Given the description of an element on the screen output the (x, y) to click on. 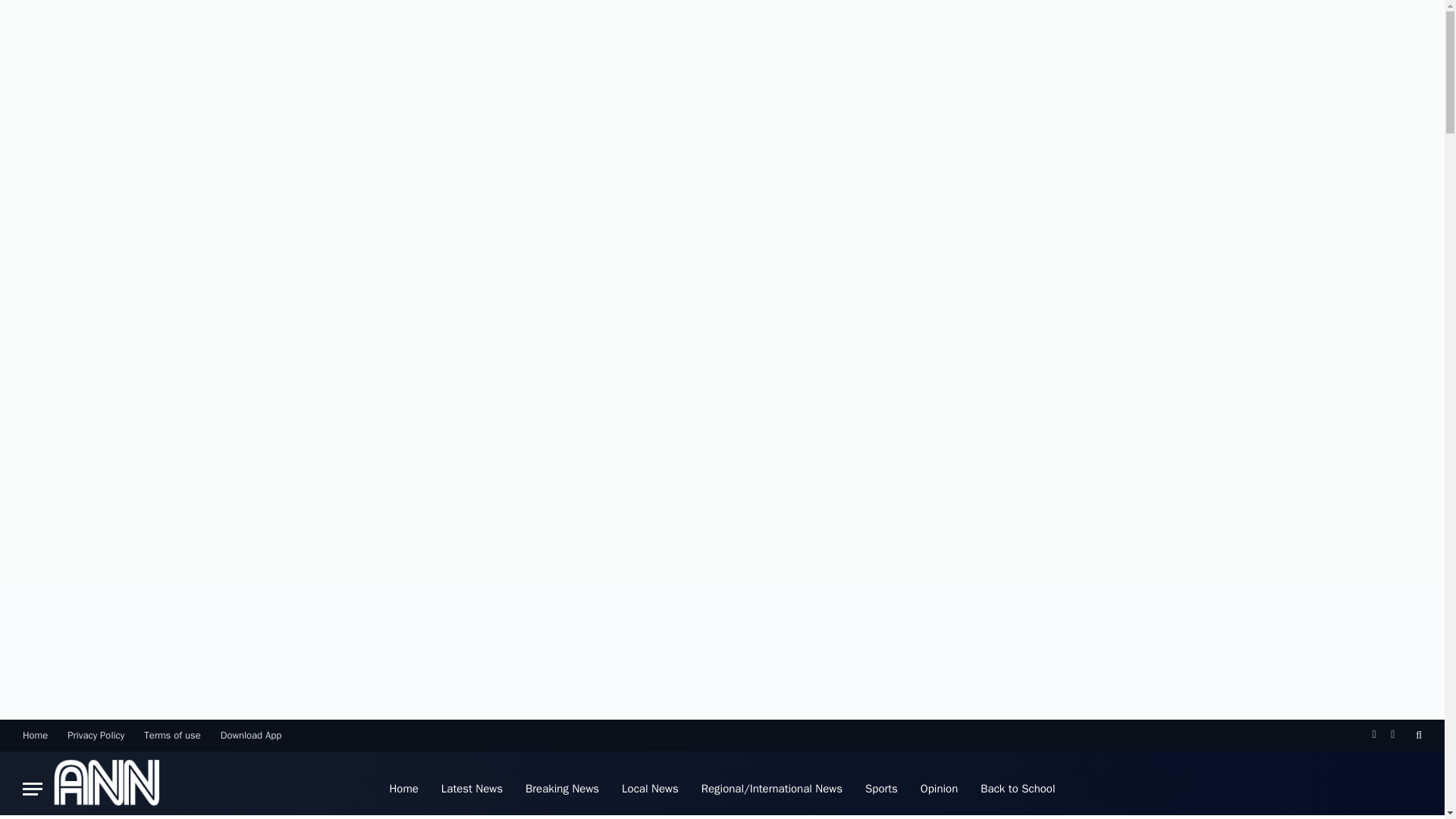
Back to School (1017, 785)
Breaking News (561, 785)
Privacy Policy (95, 735)
Local News (650, 785)
Terms of use (172, 735)
Home (35, 735)
Download App (251, 735)
Latest News (471, 785)
Asberth News Network (105, 785)
